Given the description of an element on the screen output the (x, y) to click on. 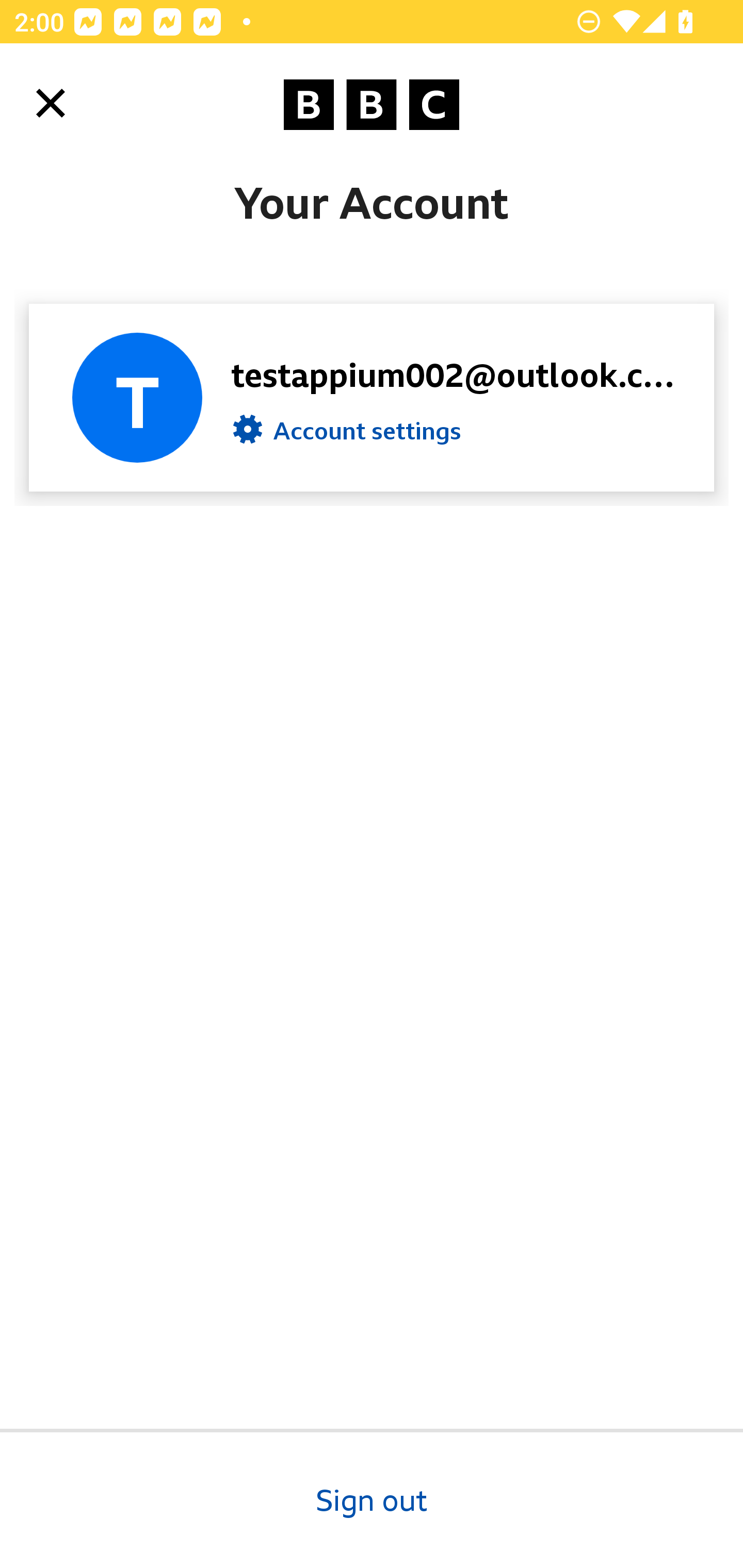
Close (50, 103)
testappium002@outlook.com Account settings (371, 397)
Account settings (346, 433)
Sign out (371, 1498)
